Given the description of an element on the screen output the (x, y) to click on. 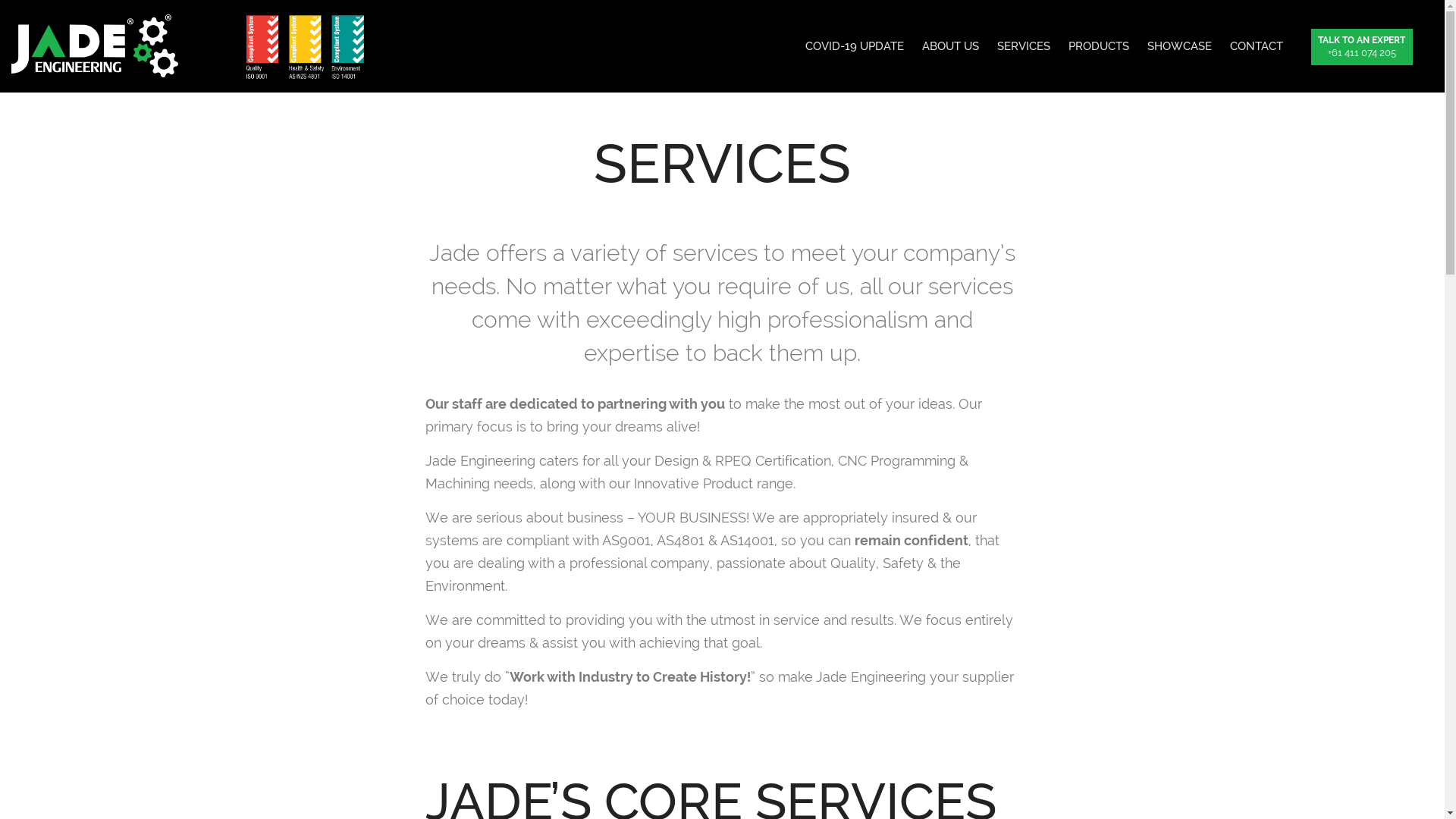
ABOUT US Element type: text (950, 46)
TALK TO AN EXPERT
+61 411 074 205 Element type: text (1357, 46)
SERVICES Element type: text (1022, 46)
PRODUCTS Element type: text (1097, 46)
JADE Engineering Element type: text (94, 45)
SHOWCASE Element type: text (1178, 46)
CONTACT Element type: text (1256, 46)
COVID-19 UPDATE Element type: text (854, 46)
